Given the description of an element on the screen output the (x, y) to click on. 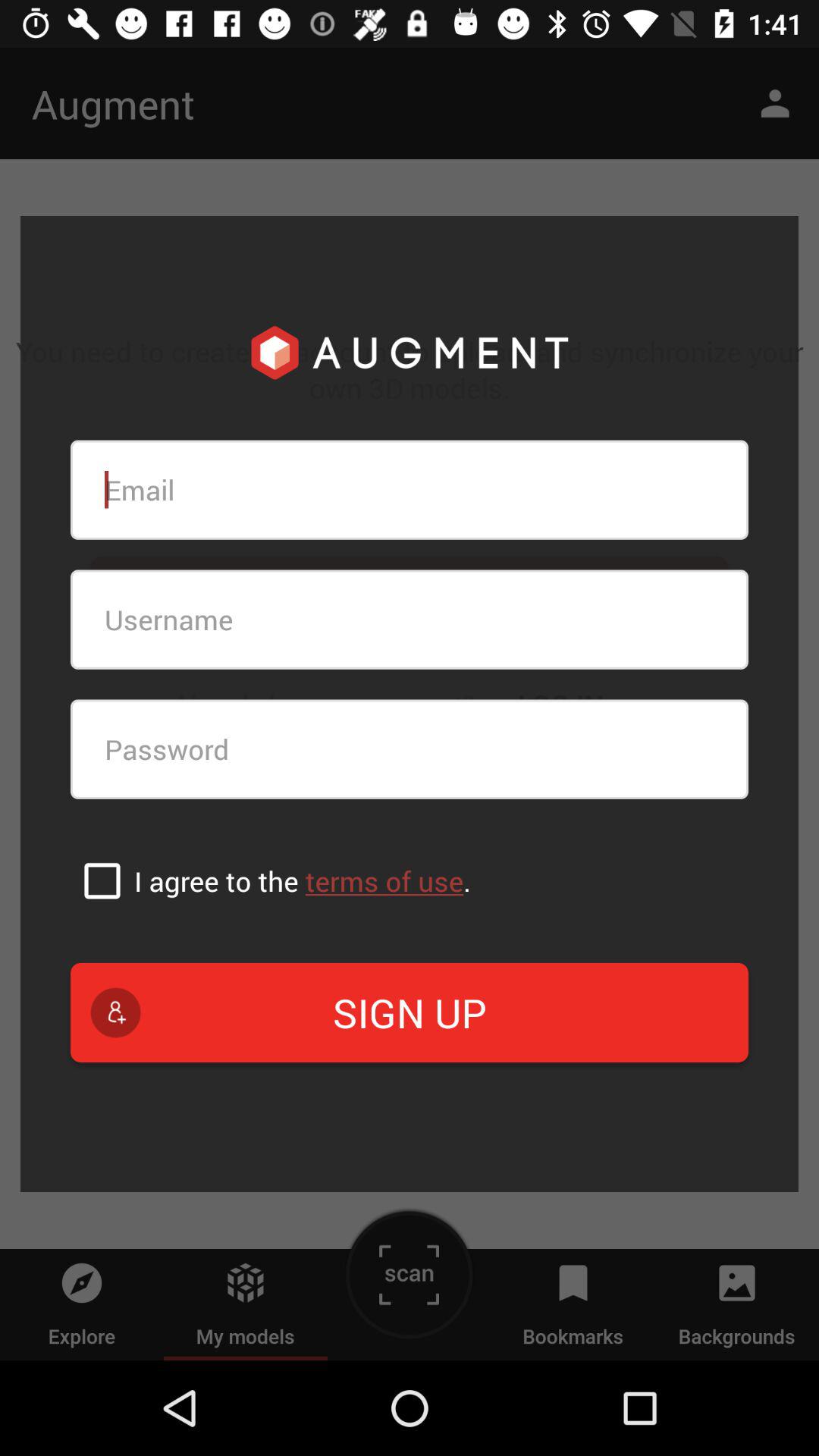
enter email (409, 489)
